Given the description of an element on the screen output the (x, y) to click on. 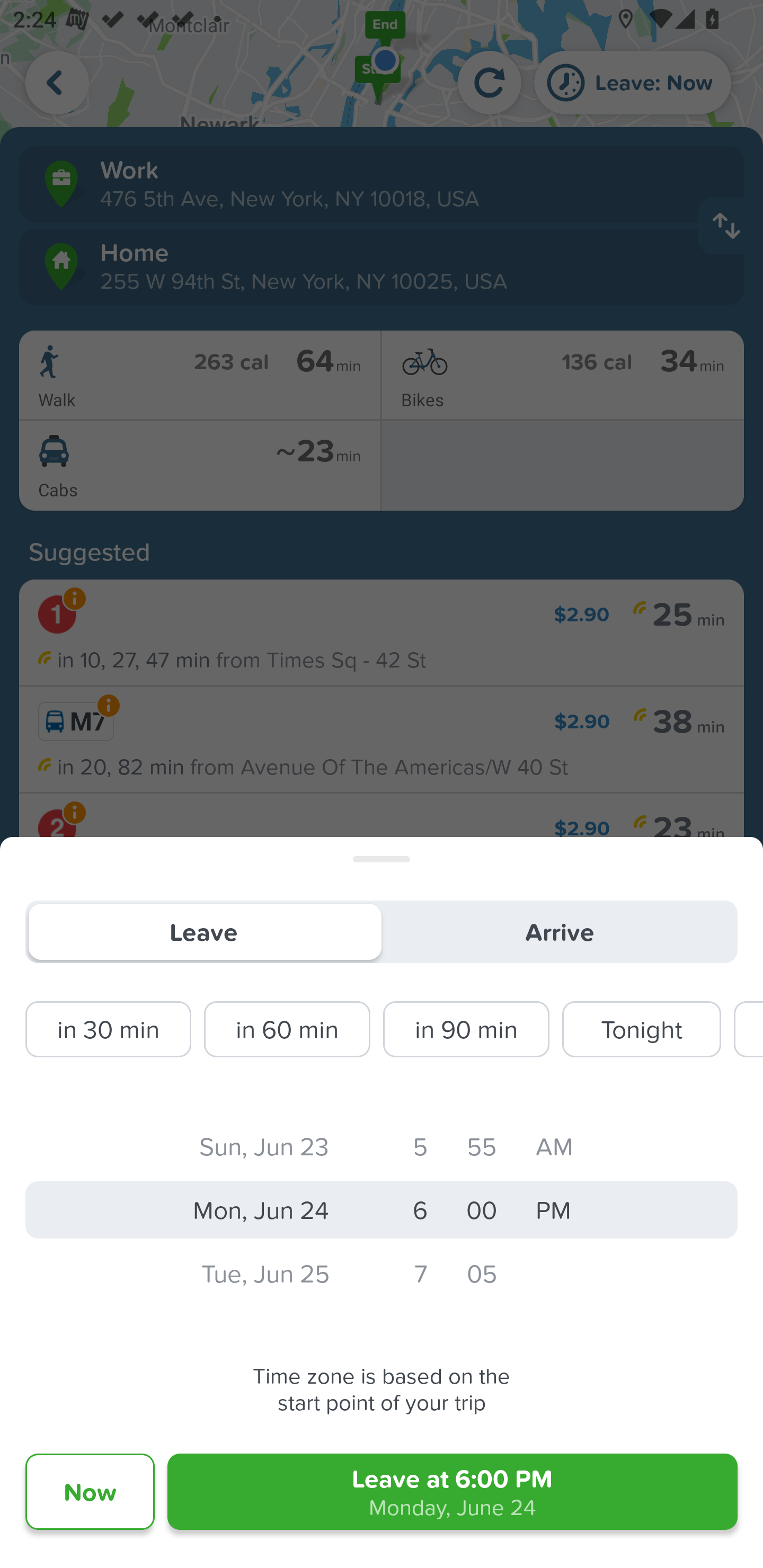
Leave at 6:00 PM Monday, June 24 (452, 1491)
